Given the description of an element on the screen output the (x, y) to click on. 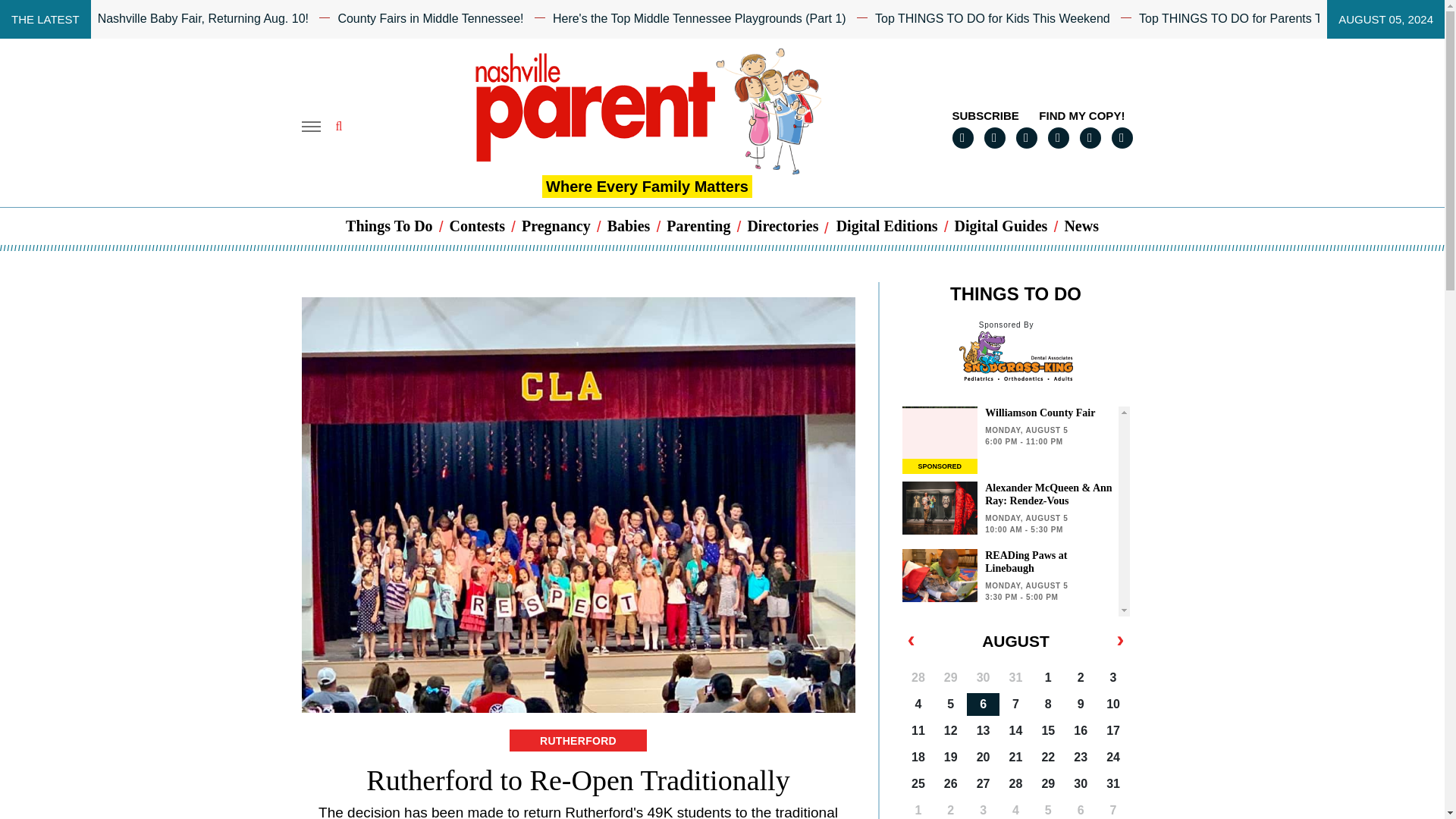
Snodgrass TTD Logo (1014, 355)
